Given the description of an element on the screen output the (x, y) to click on. 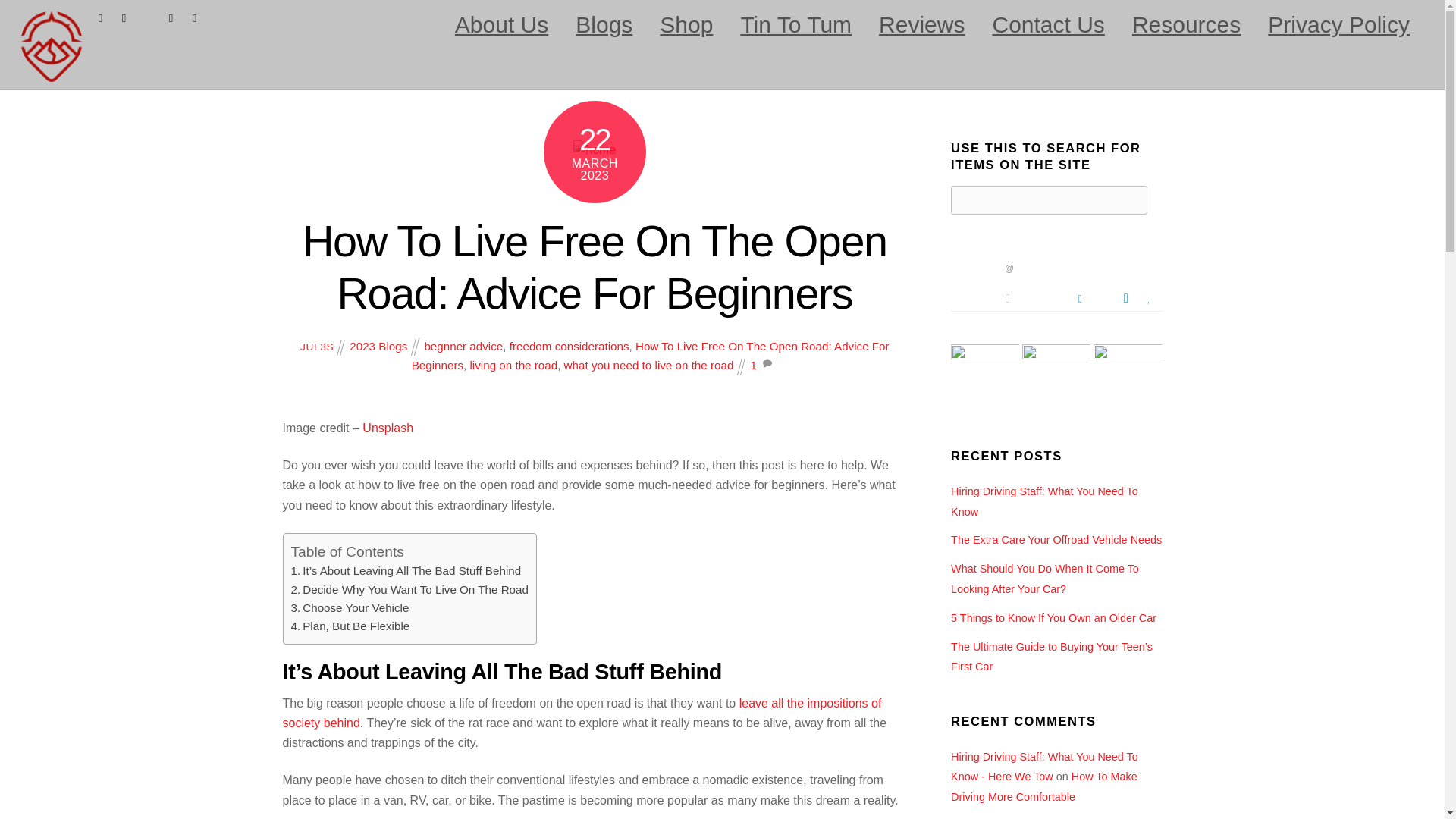
Shop (686, 24)
Choose Your Vehicle (350, 607)
Reviews (921, 24)
living on the road (512, 364)
leave all the impositions of society behind (581, 712)
Resources (1185, 24)
How To Live Free On The Open Road: Advice For Beginners (594, 267)
About Us (501, 24)
Choose Your Vehicle (350, 607)
Unsplash (387, 427)
